Given the description of an element on the screen output the (x, y) to click on. 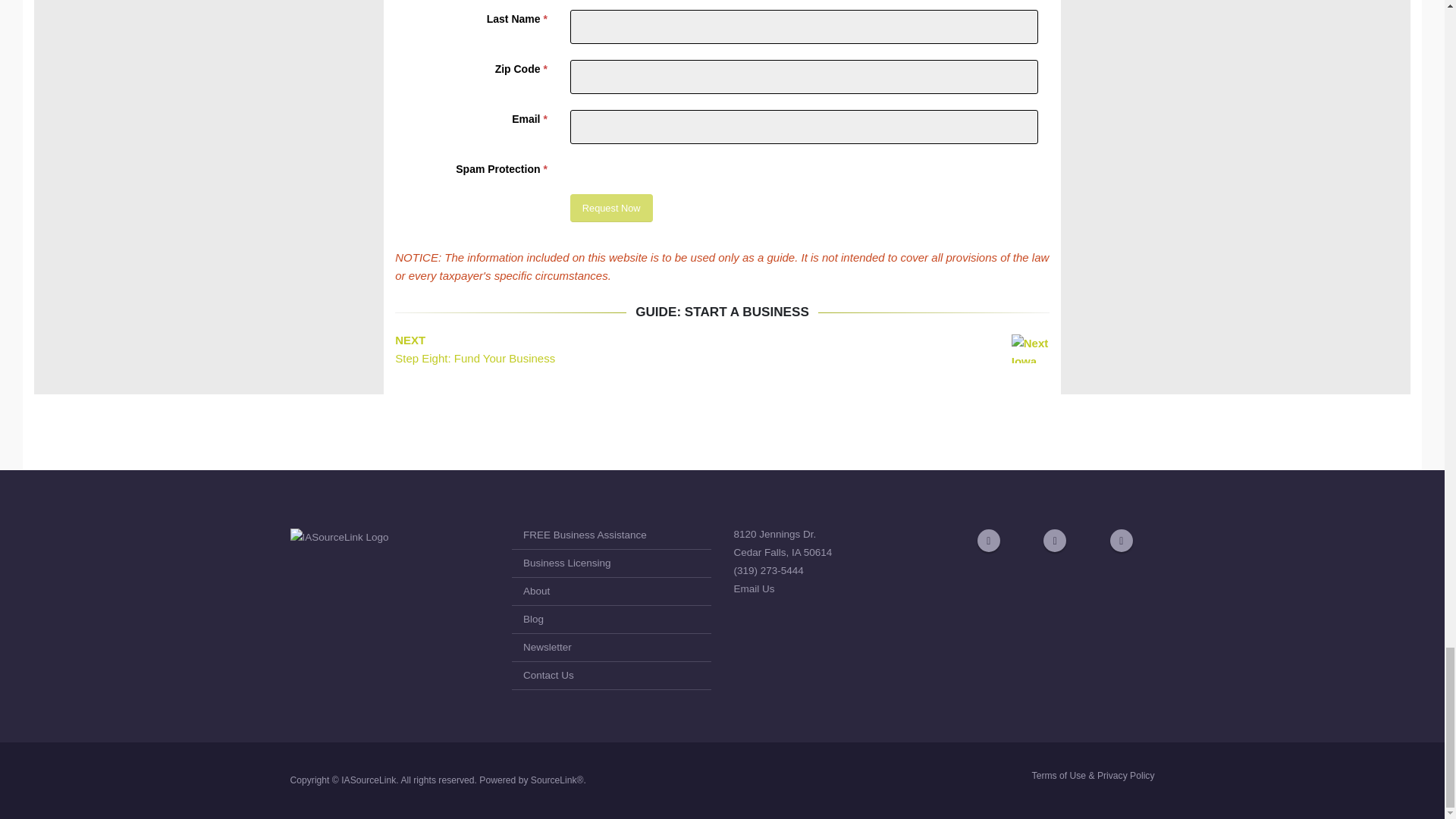
Facebook (988, 540)
Youtube (1054, 540)
Request Now (611, 207)
Linkedin (1120, 540)
